Given the description of an element on the screen output the (x, y) to click on. 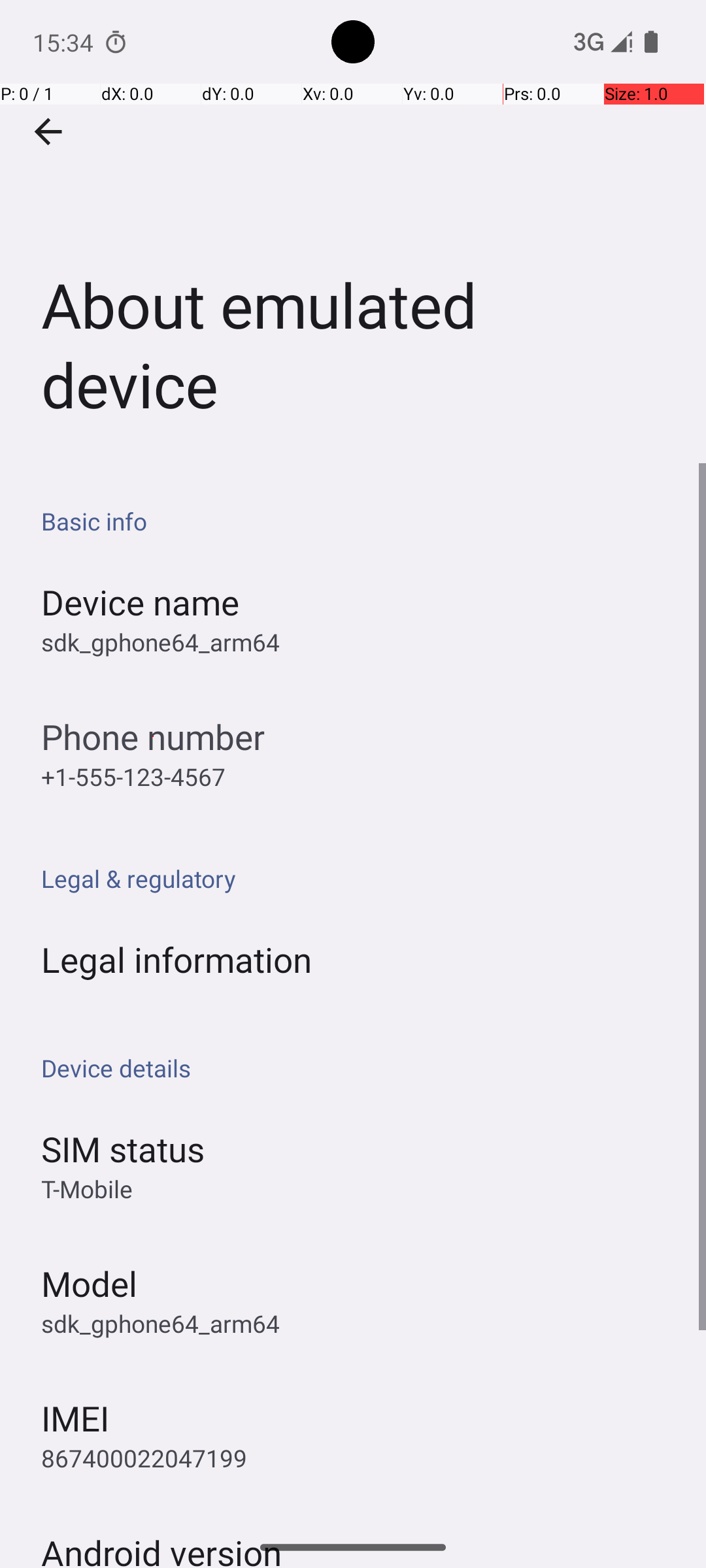
About emulated device Element type: android.widget.FrameLayout (353, 231)
Basic info Element type: android.widget.TextView (359, 520)
Phone number Element type: android.widget.TextView (152, 736)
+1-555-123-4567 Element type: android.widget.TextView (133, 776)
Legal & regulatory Element type: android.widget.TextView (359, 878)
Legal information Element type: android.widget.TextView (176, 959)
Device details Element type: android.widget.TextView (359, 1067)
SIM status Element type: android.widget.TextView (122, 1148)
Model Element type: android.widget.TextView (89, 1283)
IMEI Element type: android.widget.TextView (75, 1417)
867400022047199 Element type: android.widget.TextView (144, 1457)
